Given the description of an element on the screen output the (x, y) to click on. 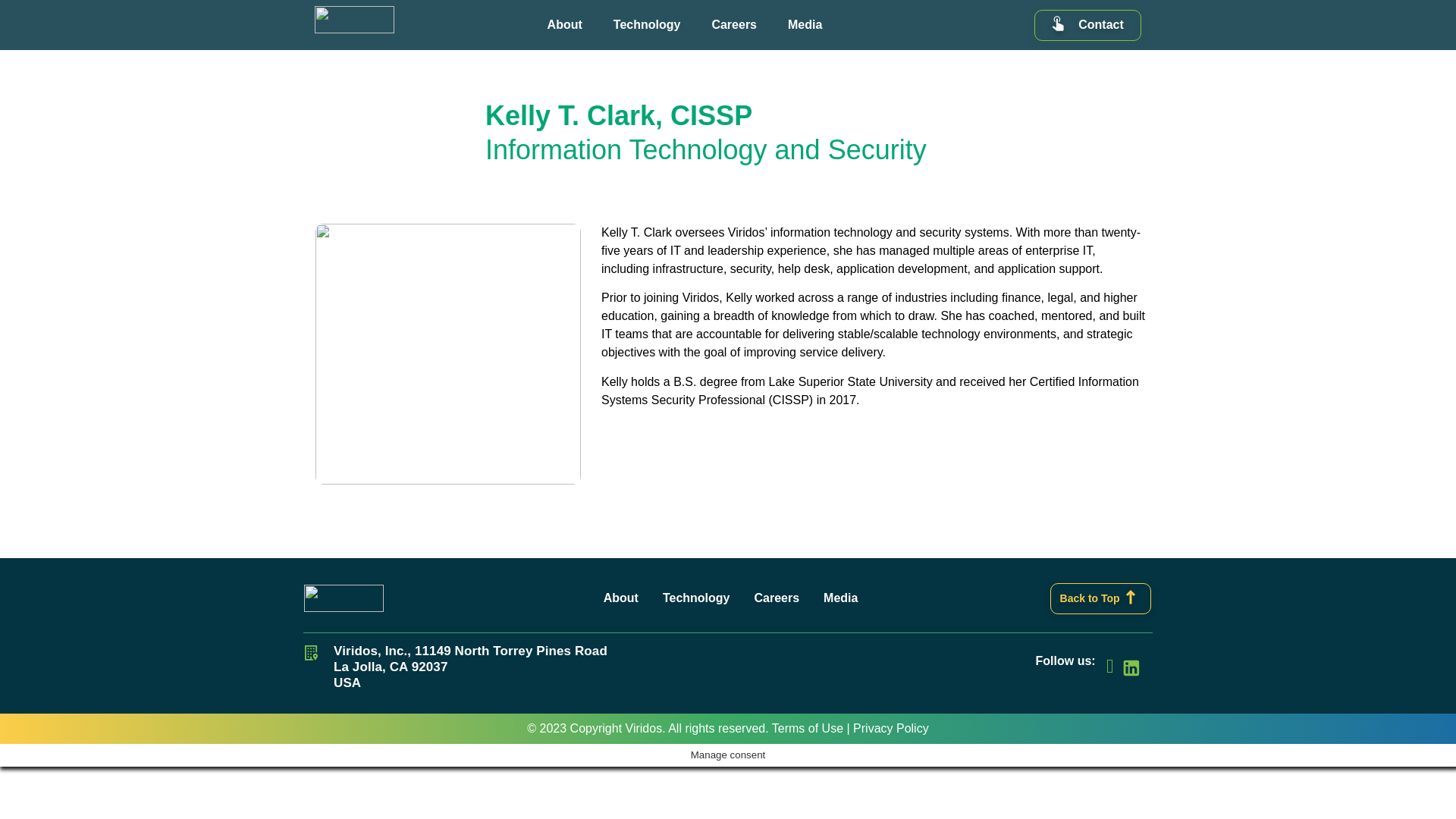
Technology (645, 24)
Careers (734, 24)
Media (805, 24)
About (563, 24)
